Given the description of an element on the screen output the (x, y) to click on. 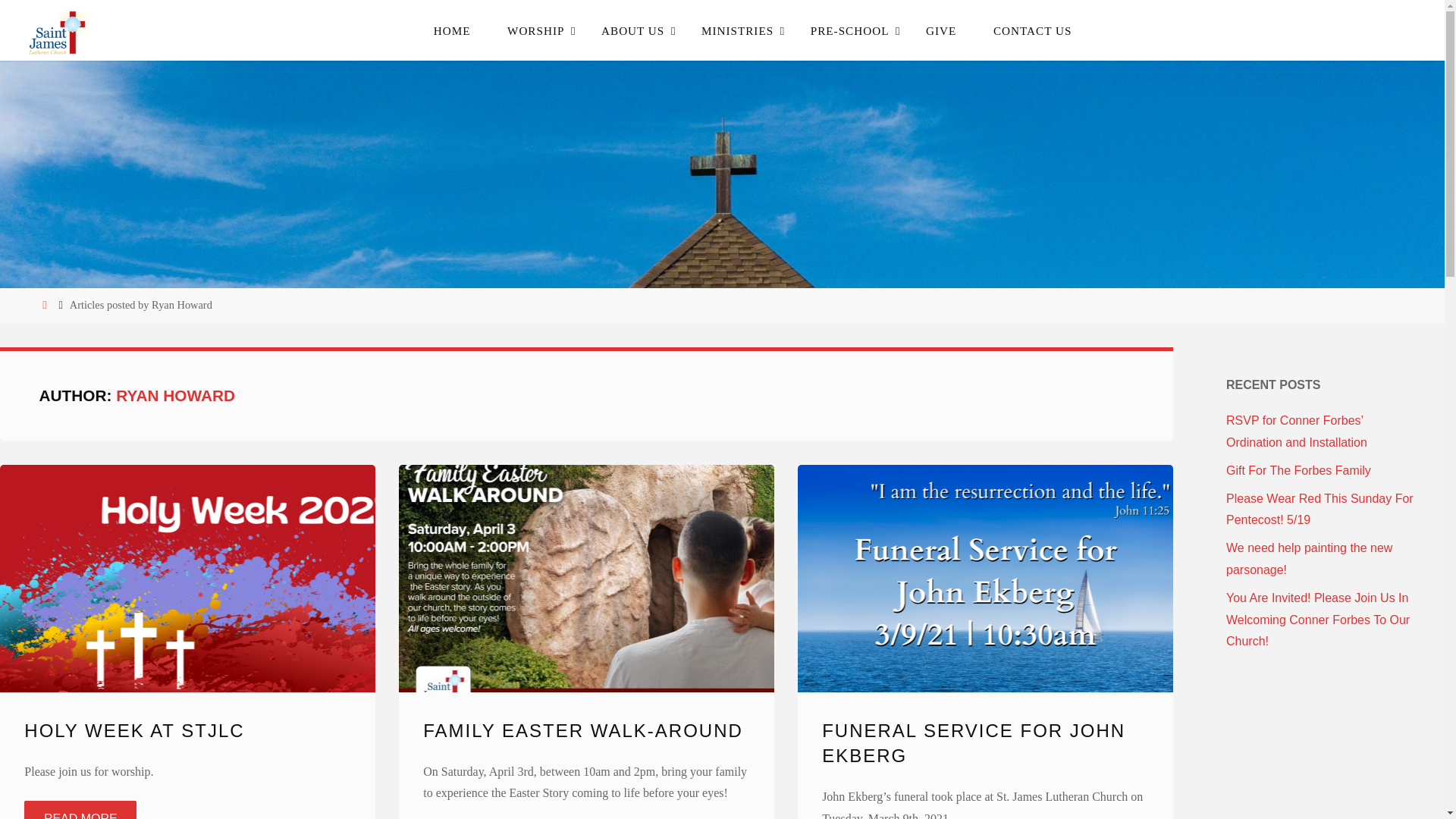
HOME (450, 30)
WORSHIP (536, 30)
